Given the description of an element on the screen output the (x, y) to click on. 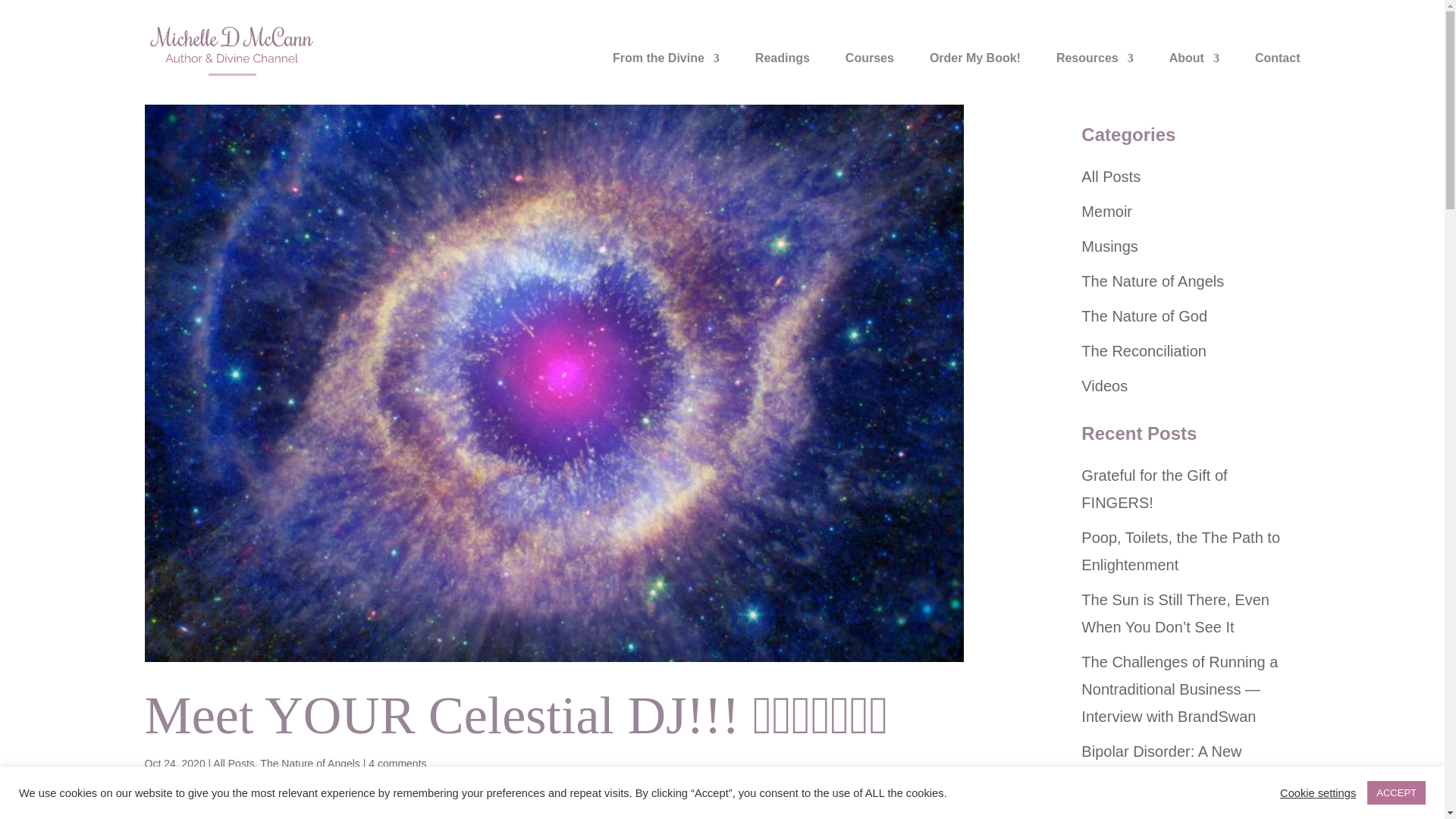
Resources (1095, 75)
Order My Book! (975, 75)
Contact (1277, 75)
The Nature of Angels (309, 763)
Readings (782, 75)
All Posts (232, 763)
4 comments (397, 763)
From the Divine (665, 75)
Courses (869, 75)
Memoir (1106, 211)
